Given the description of an element on the screen output the (x, y) to click on. 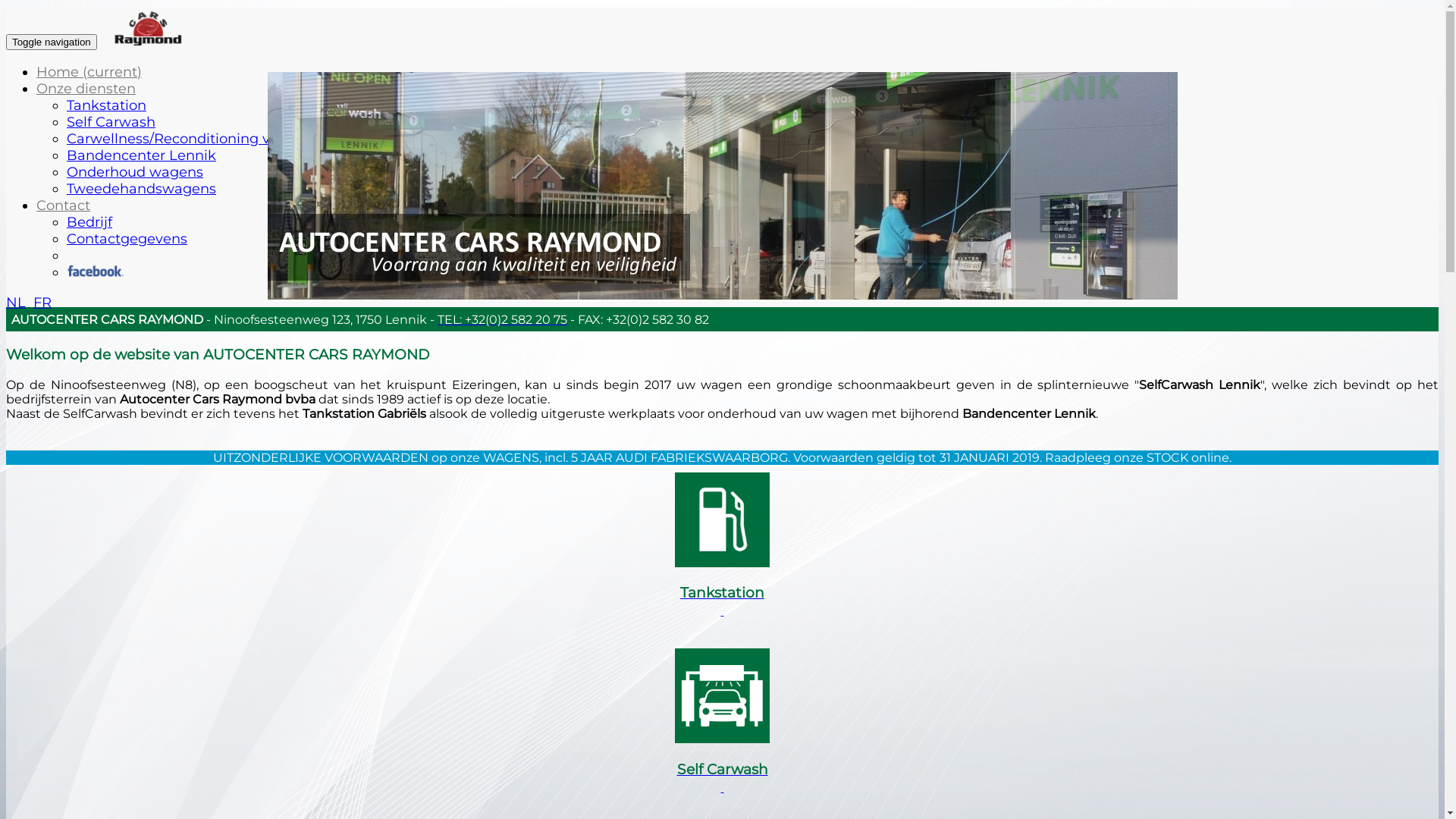
Onderhoud wagens Element type: text (134, 171)
Toggle navigation Element type: text (51, 42)
Tankstation Element type: text (106, 105)
Onze diensten Element type: text (85, 88)
FR Element type: text (42, 302)
Contact Element type: text (63, 205)
TEL: +32(0)2 582 20 75 Element type: text (502, 319)
Tankstation
  Element type: text (722, 545)
Carwellness/Reconditioning van wagens Element type: text (205, 138)
Tweedehandswagens Element type: text (141, 188)
Self Carwash Element type: text (110, 121)
NL Element type: text (15, 302)
Facebook Element type: hover (94, 270)
Bandencenter Lennik Element type: text (141, 155)
Bedrijf Element type: text (89, 221)
Contactgegevens Element type: text (126, 238)
foto carwash Element type: hover (721, 185)
Home (current) Element type: text (88, 71)
Self Carwash
  Element type: text (722, 721)
